Given the description of an element on the screen output the (x, y) to click on. 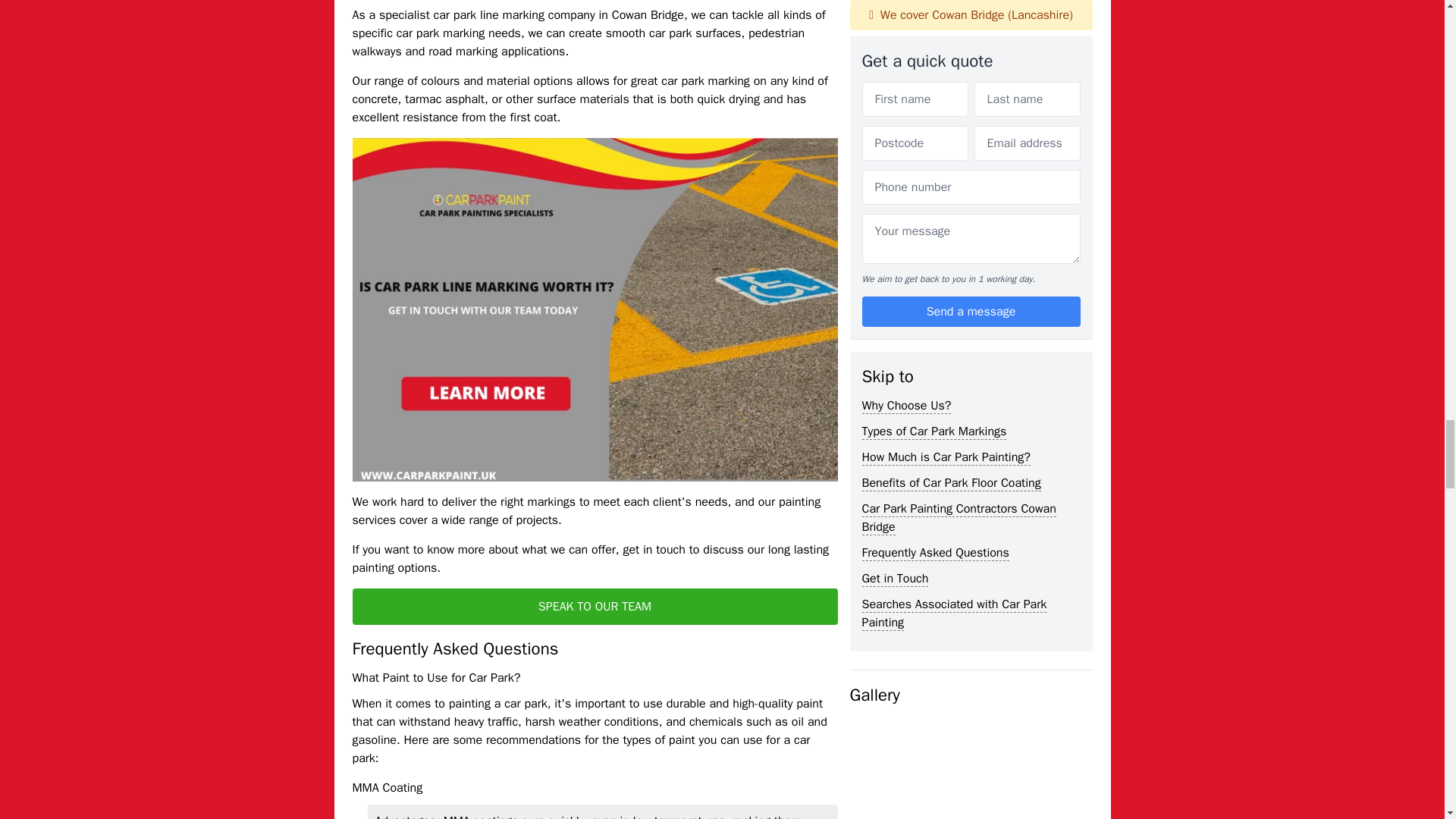
SPEAK TO OUR TEAM (594, 606)
